Given the description of an element on the screen output the (x, y) to click on. 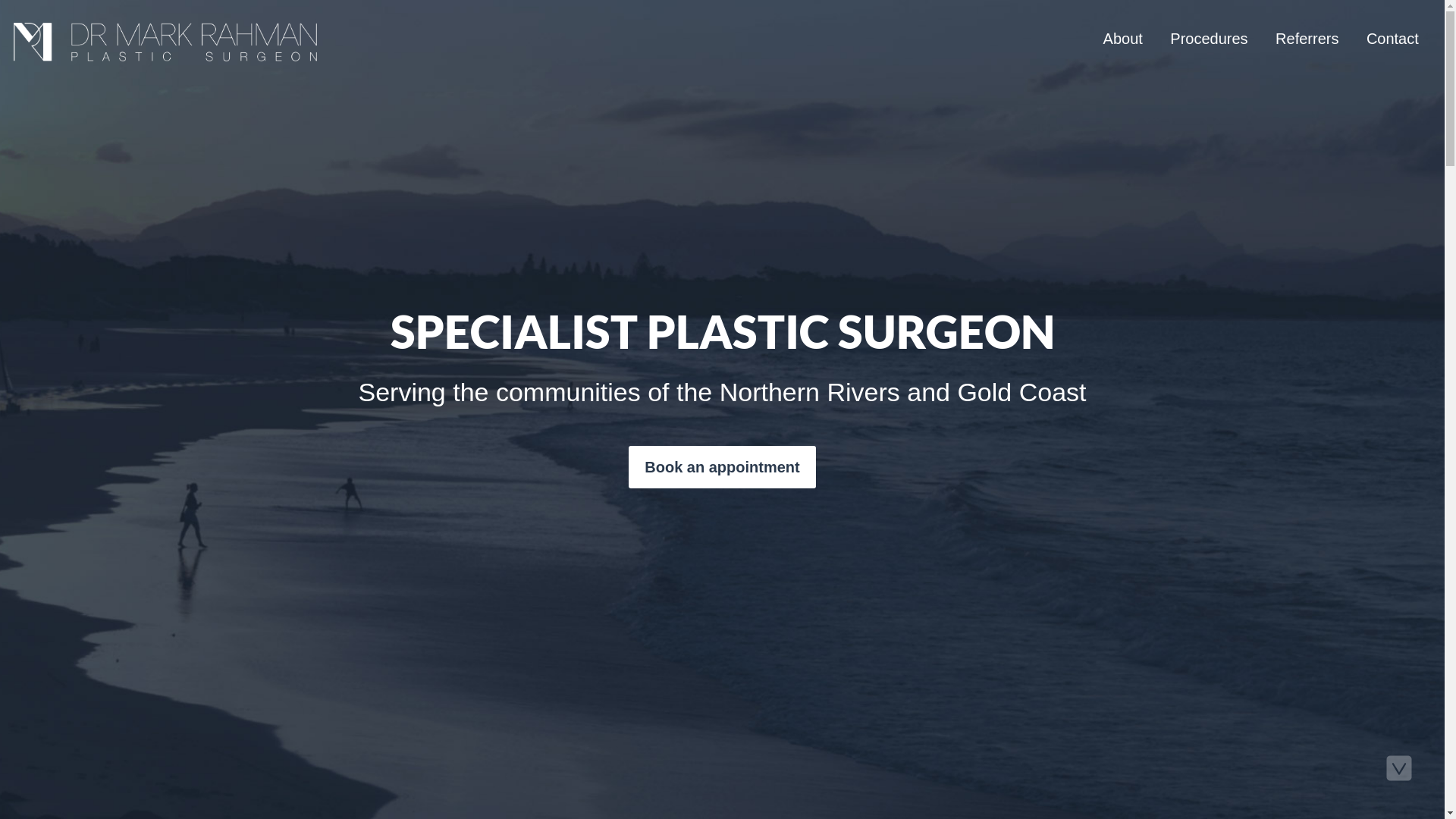
Procedures Element type: text (1208, 38)
Referrers Element type: text (1306, 38)
Book an appointment Element type: text (721, 466)
About Element type: text (1122, 38)
Scroll down Element type: text (1399, 767)
Contact Element type: text (1392, 38)
